Given the description of an element on the screen output the (x, y) to click on. 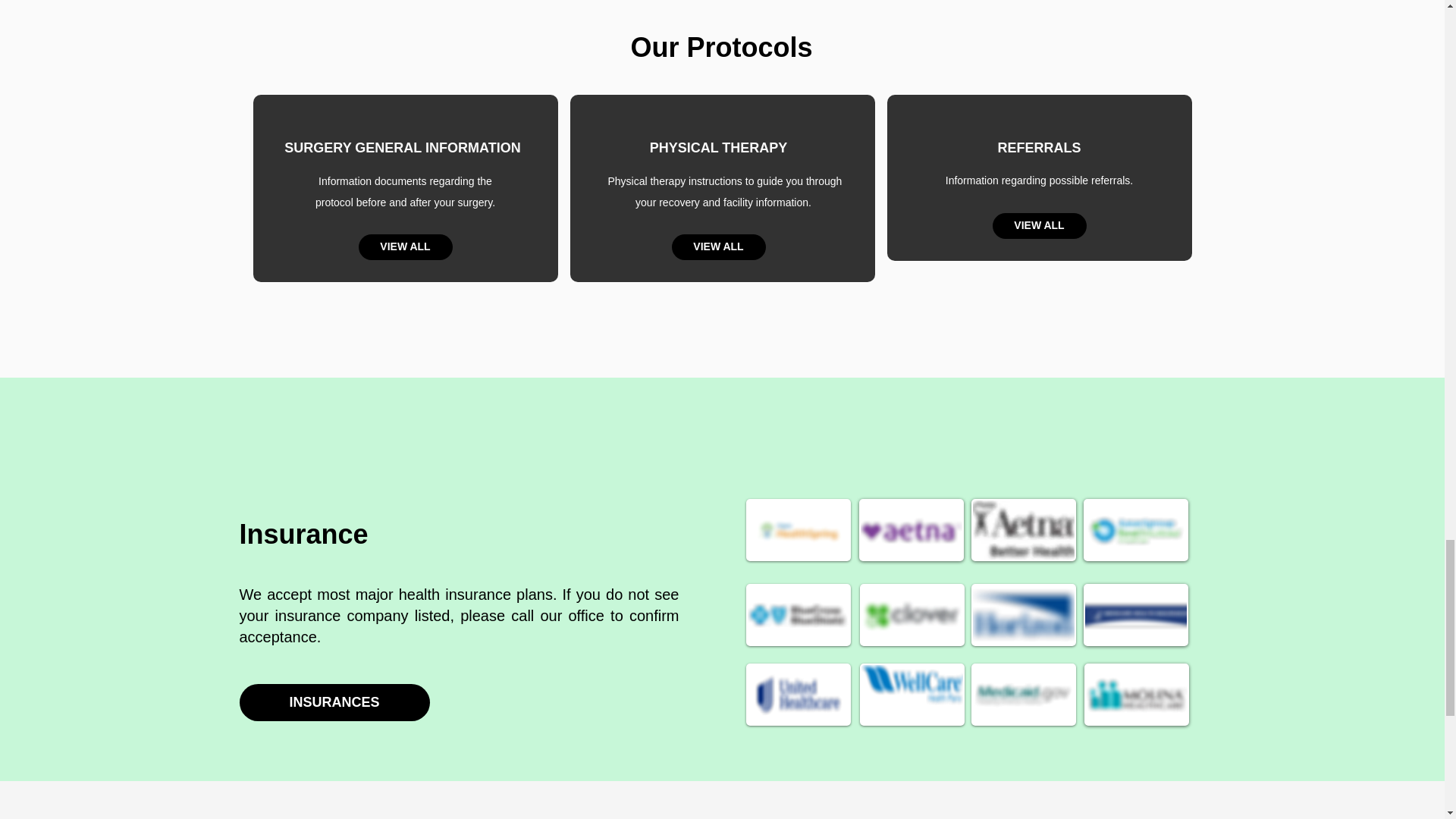
VIEW ALL (718, 247)
INSURANCES (334, 702)
VIEW ALL (404, 247)
VIEW ALL (1038, 225)
